Given the description of an element on the screen output the (x, y) to click on. 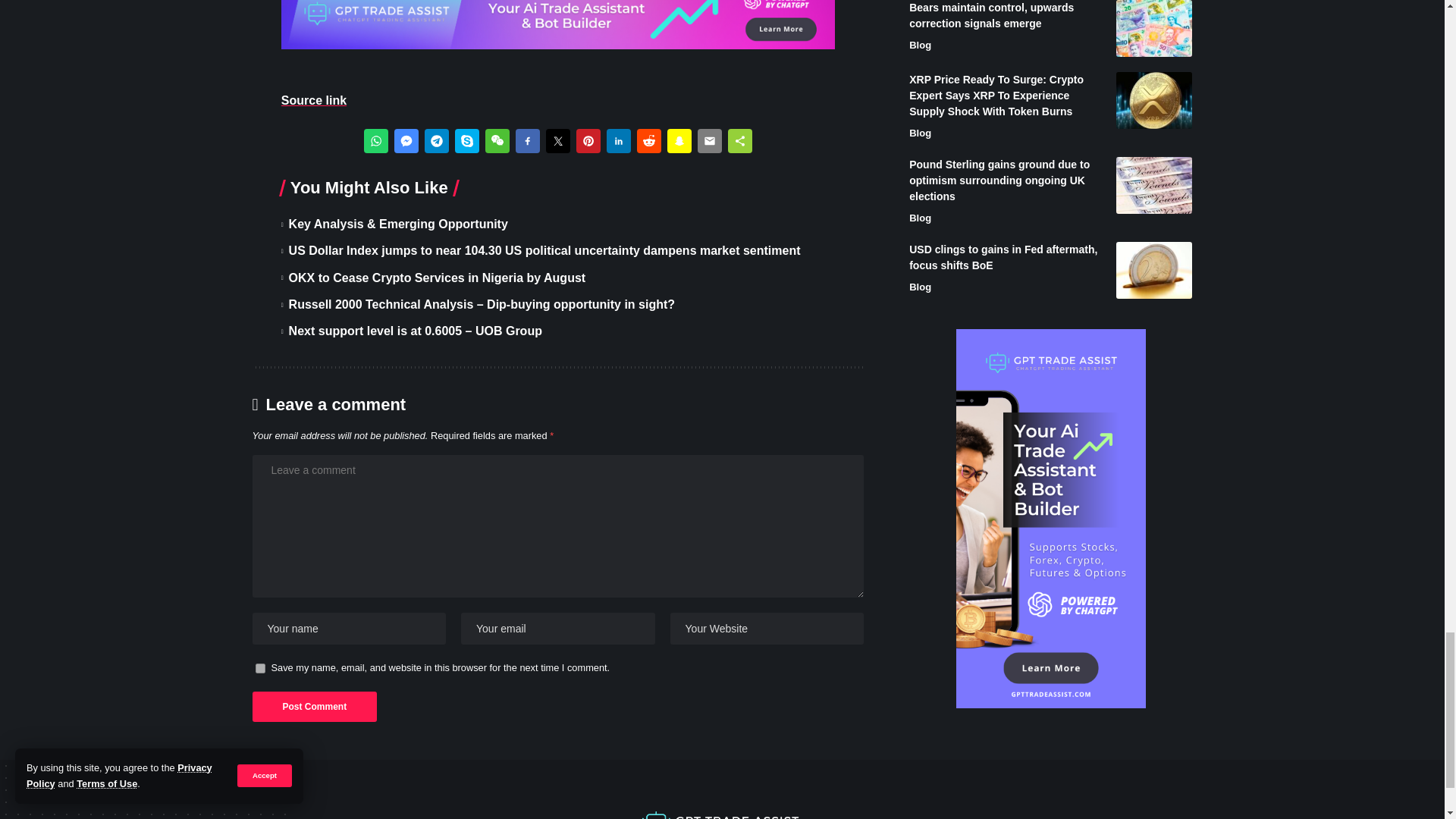
yes (259, 668)
Post Comment (314, 706)
